Given the description of an element on the screen output the (x, y) to click on. 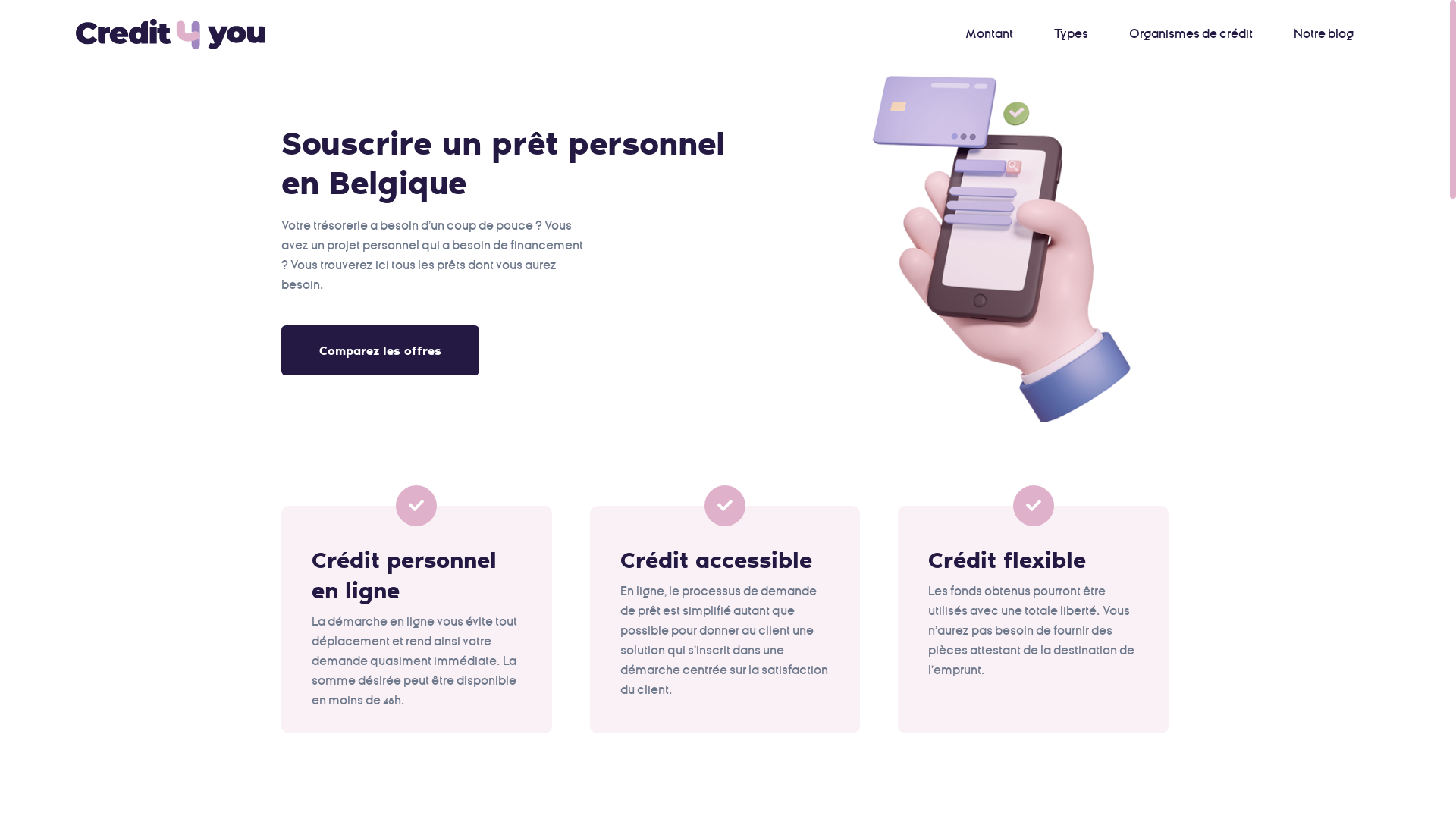
Comparez les offres Element type: text (380, 350)
Notre blog Element type: text (1323, 33)
Montant Element type: text (989, 33)
Types Element type: text (1071, 33)
